Given the description of an element on the screen output the (x, y) to click on. 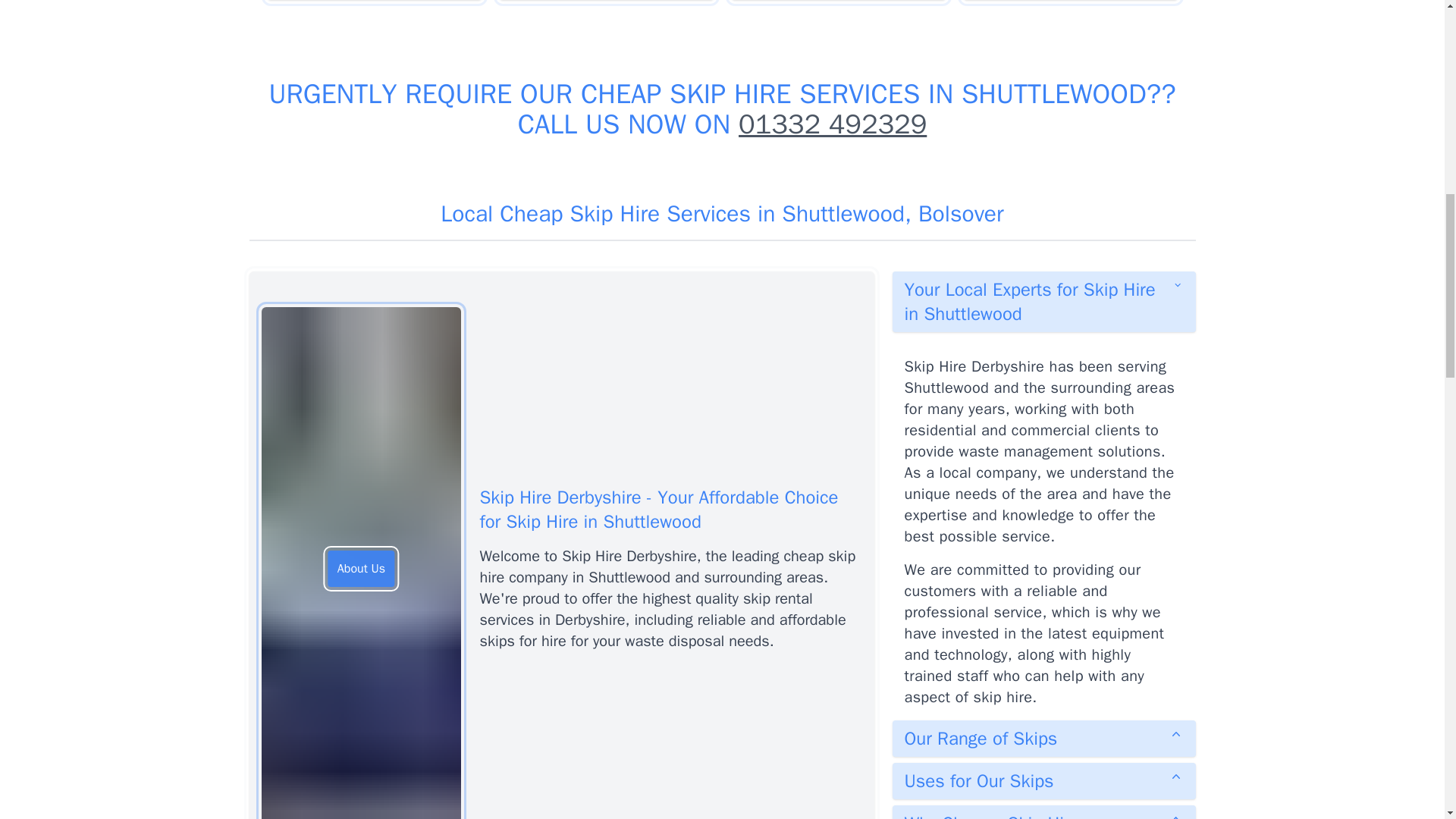
Why Choose Skip Hire Derbyshire? (1043, 812)
Your Local Experts for Skip Hire in Shuttlewood (1043, 301)
01332 492329 (832, 124)
Uses for Our Skips (1043, 780)
About Us (361, 568)
Our Range of Skips (1043, 738)
